Given the description of an element on the screen output the (x, y) to click on. 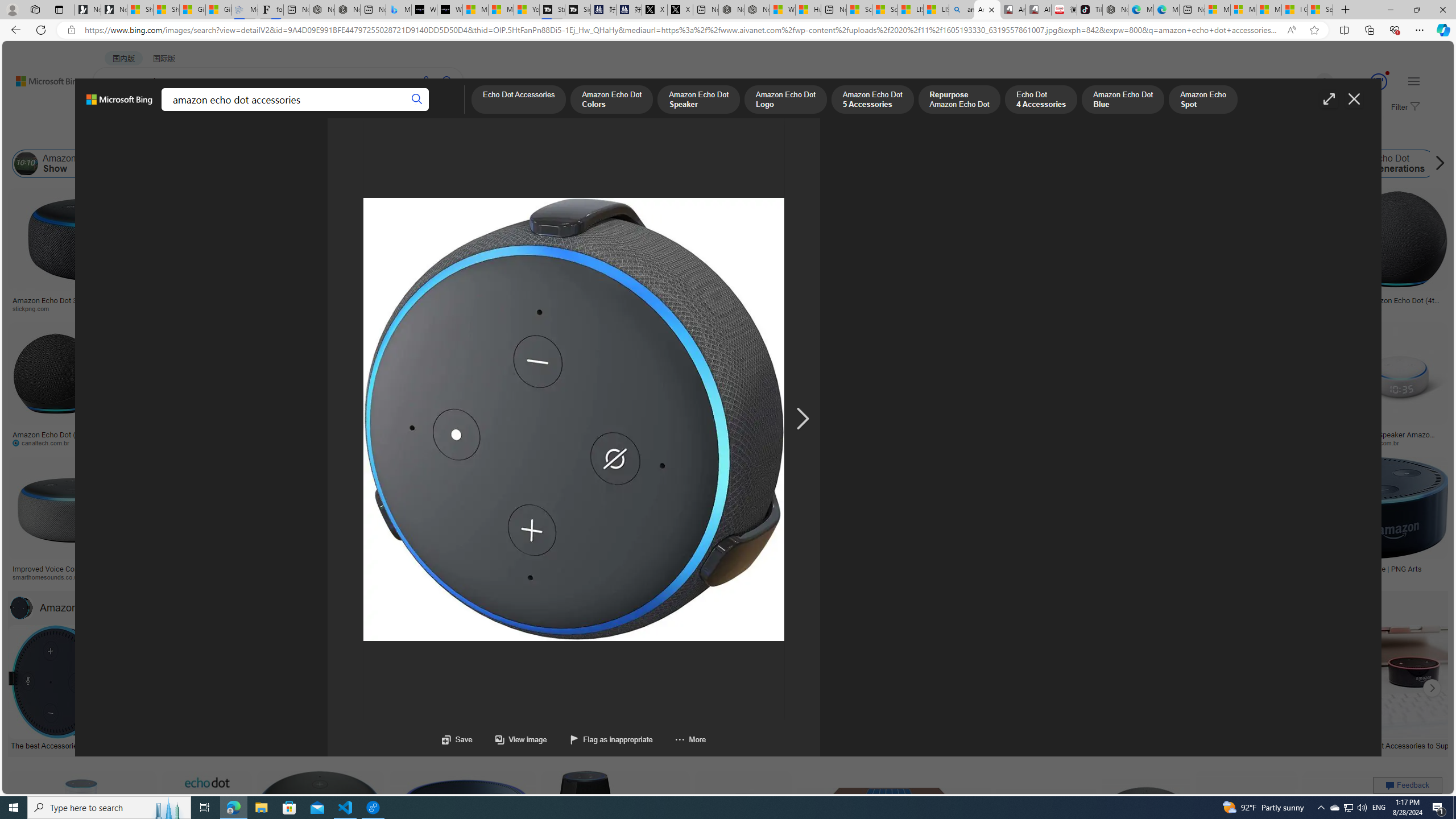
Amazon Alexa Echo (129, 163)
tpsearchtool.com (1283, 308)
winmaec.com (1148, 442)
Amazon Echo Dot Speaker (697, 100)
Amazon Echo Dot PNG - Search Images (986, 9)
pnghq.com (1150, 576)
Alexa Echo Png Pic Png Arts Images (923, 299)
dulcesueno.com.ec (741, 442)
Search using voice (426, 80)
